Given the description of an element on the screen output the (x, y) to click on. 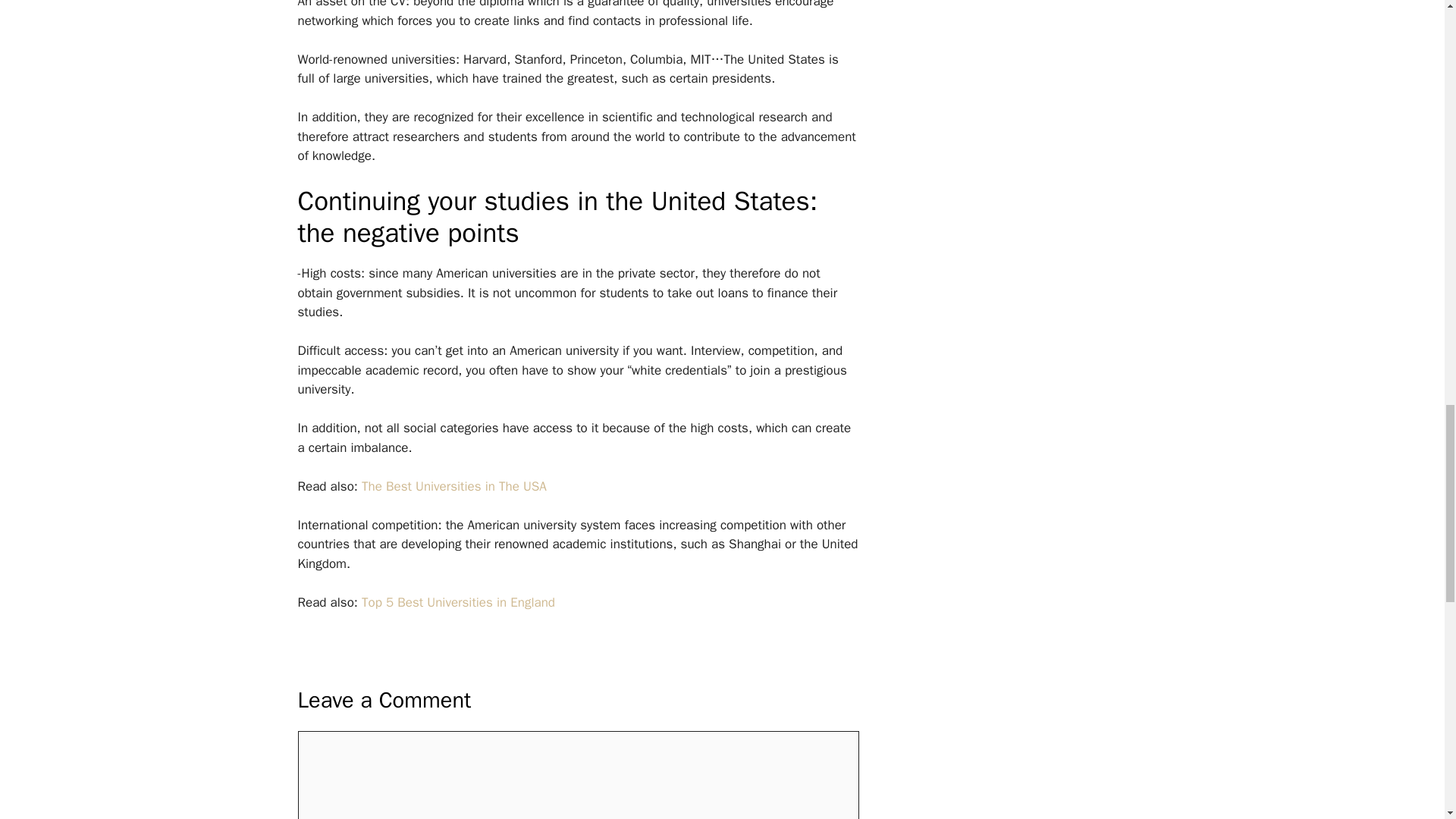
The Best Universities in The USA (454, 486)
Top 5 Best Universities in England (457, 602)
